Given the description of an element on the screen output the (x, y) to click on. 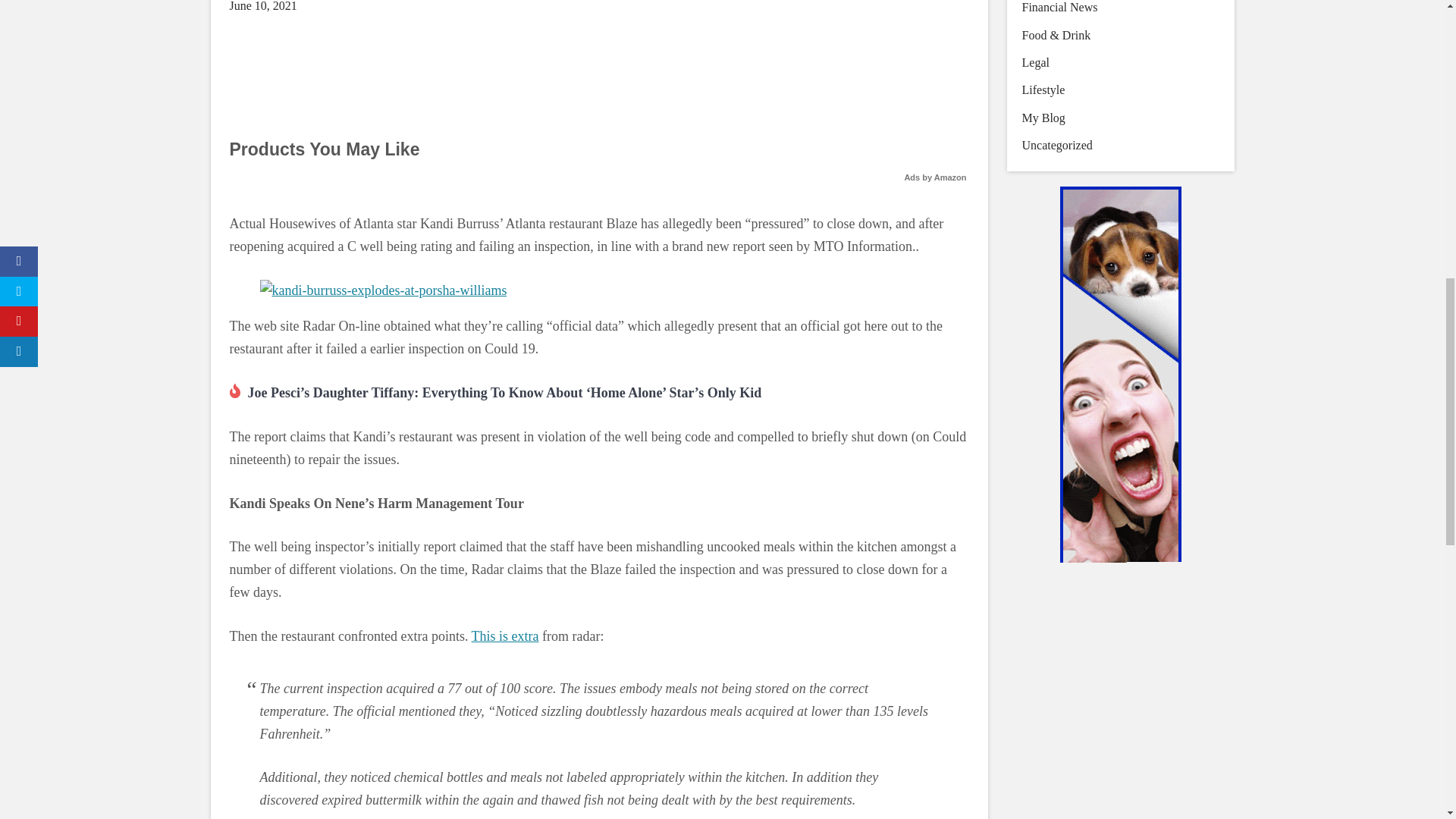
Ads by Amazon (935, 176)
This is extra (504, 635)
